Given the description of an element on the screen output the (x, y) to click on. 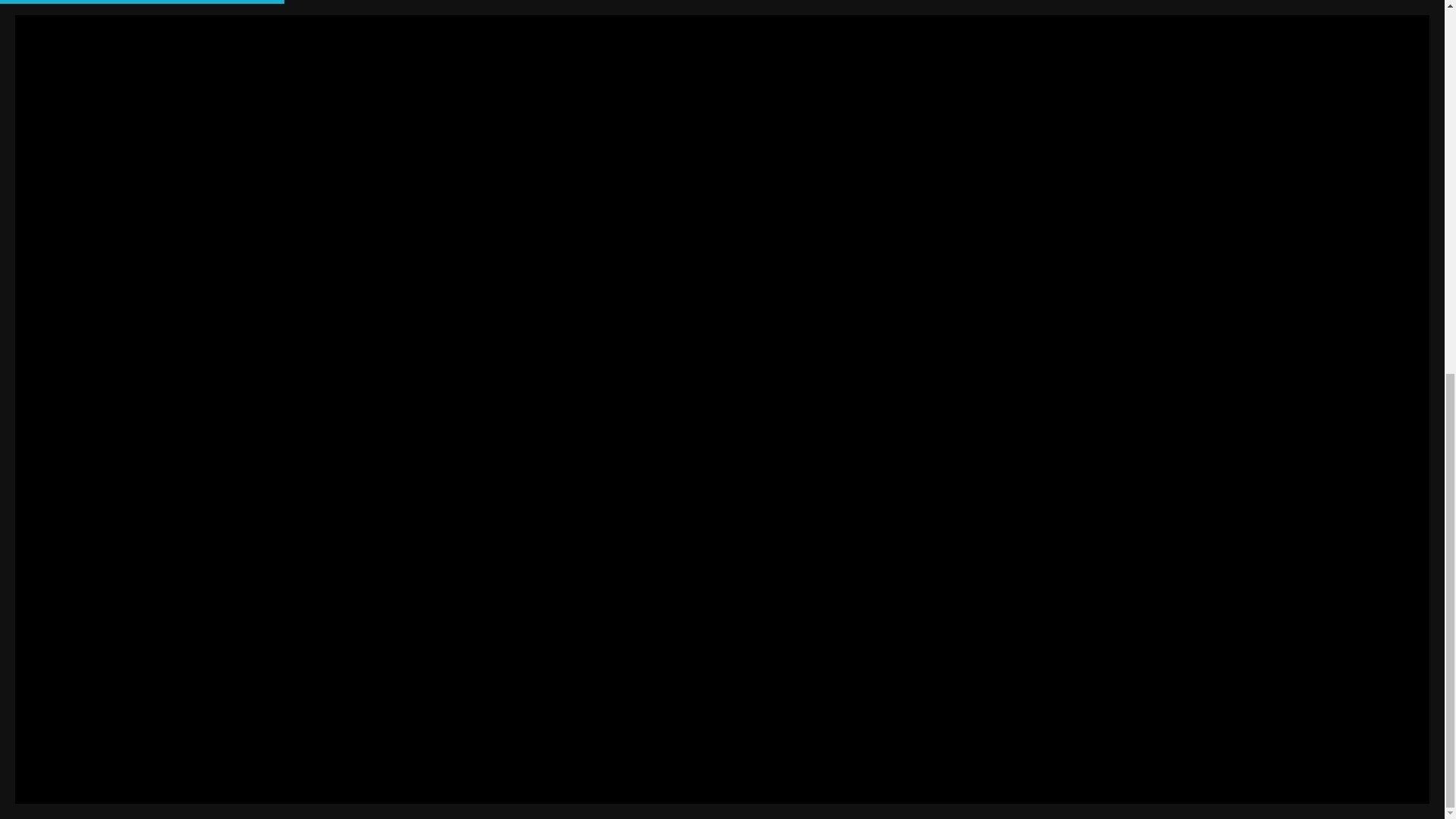
Search (384, 83)
